Given the description of an element on the screen output the (x, y) to click on. 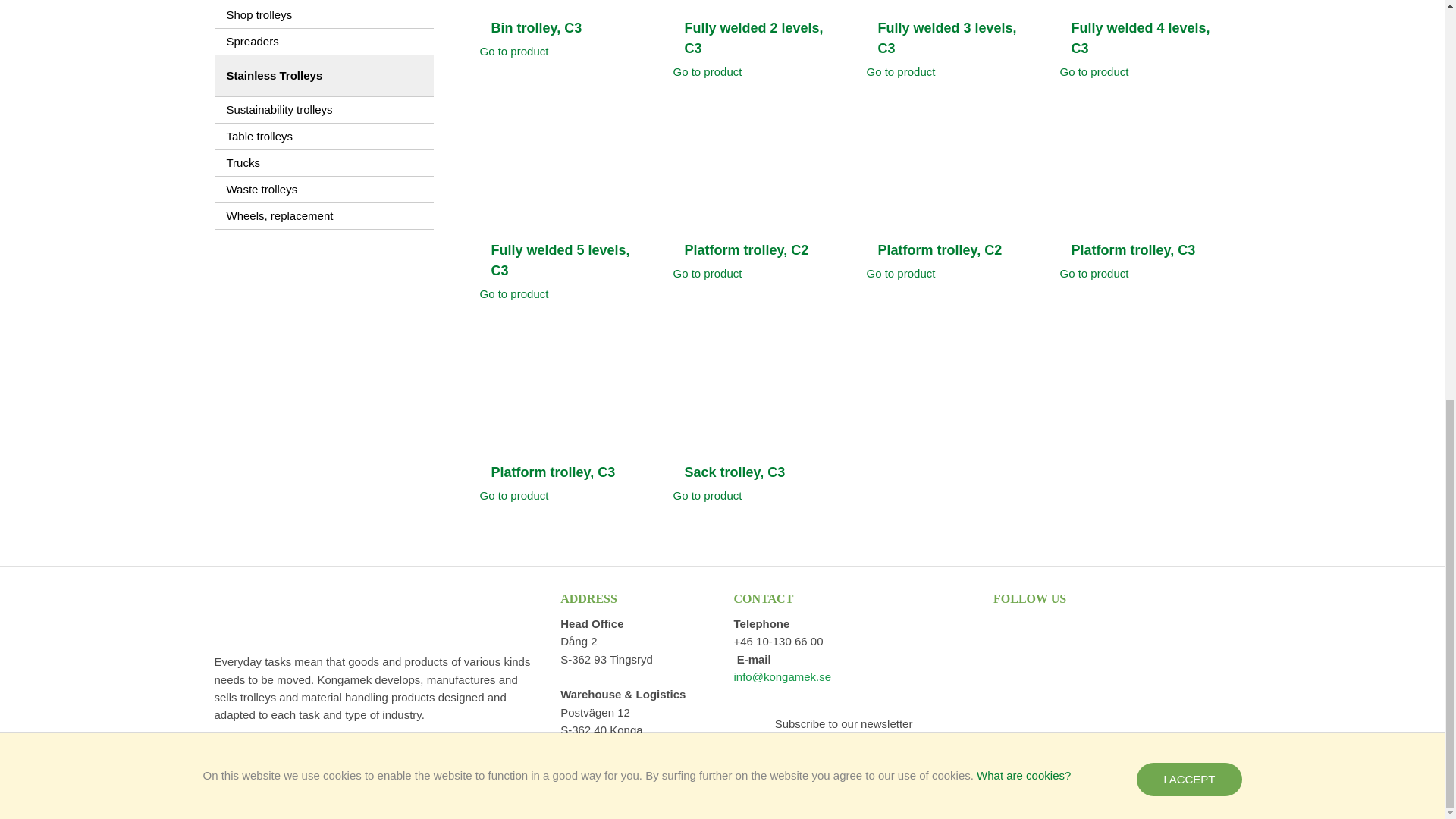
I ACCEPT (1189, 6)
